Given the description of an element on the screen output the (x, y) to click on. 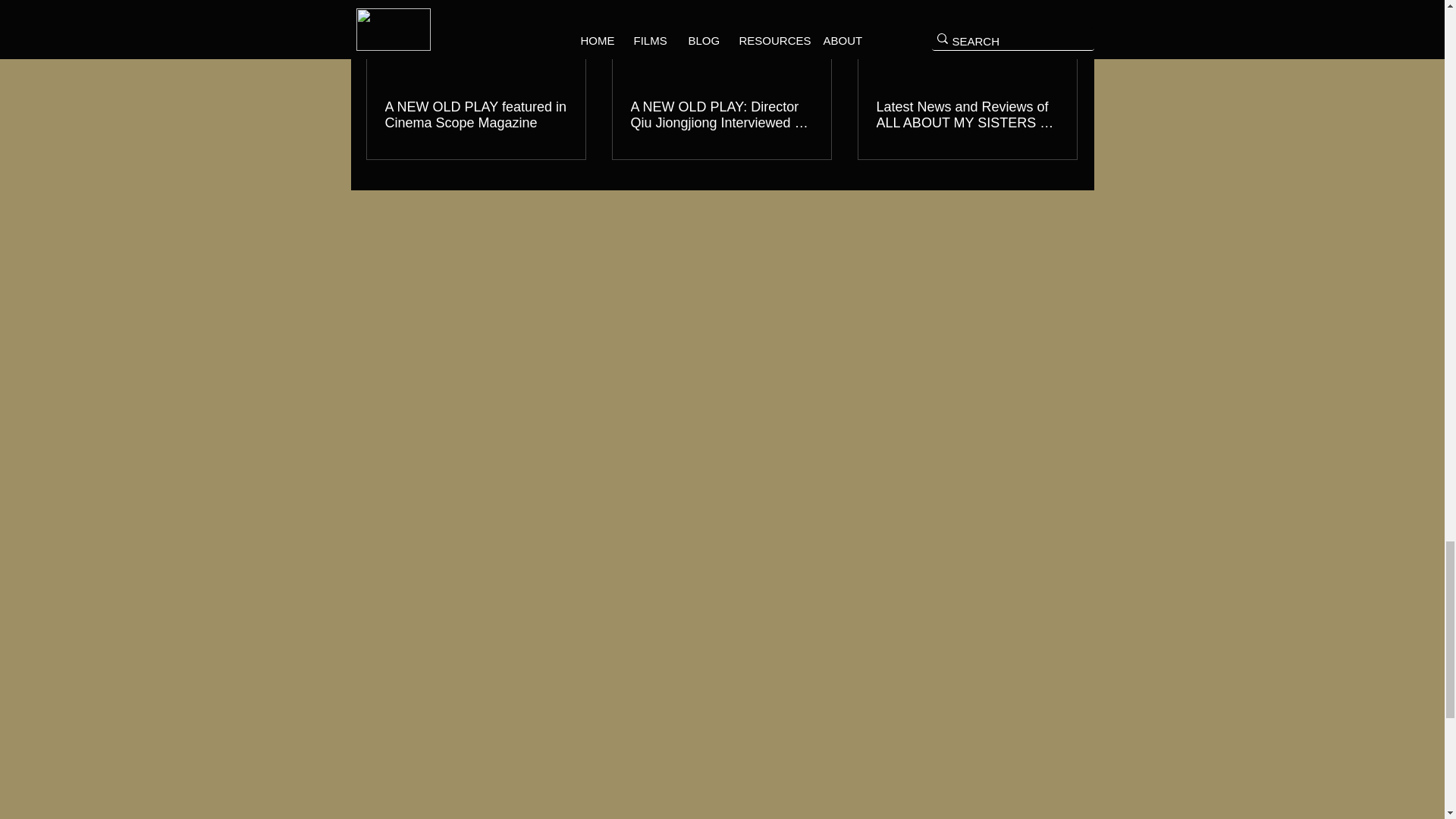
A NEW OLD PLAY featured in Cinema Scope Magazine (476, 115)
